Given the description of an element on the screen output the (x, y) to click on. 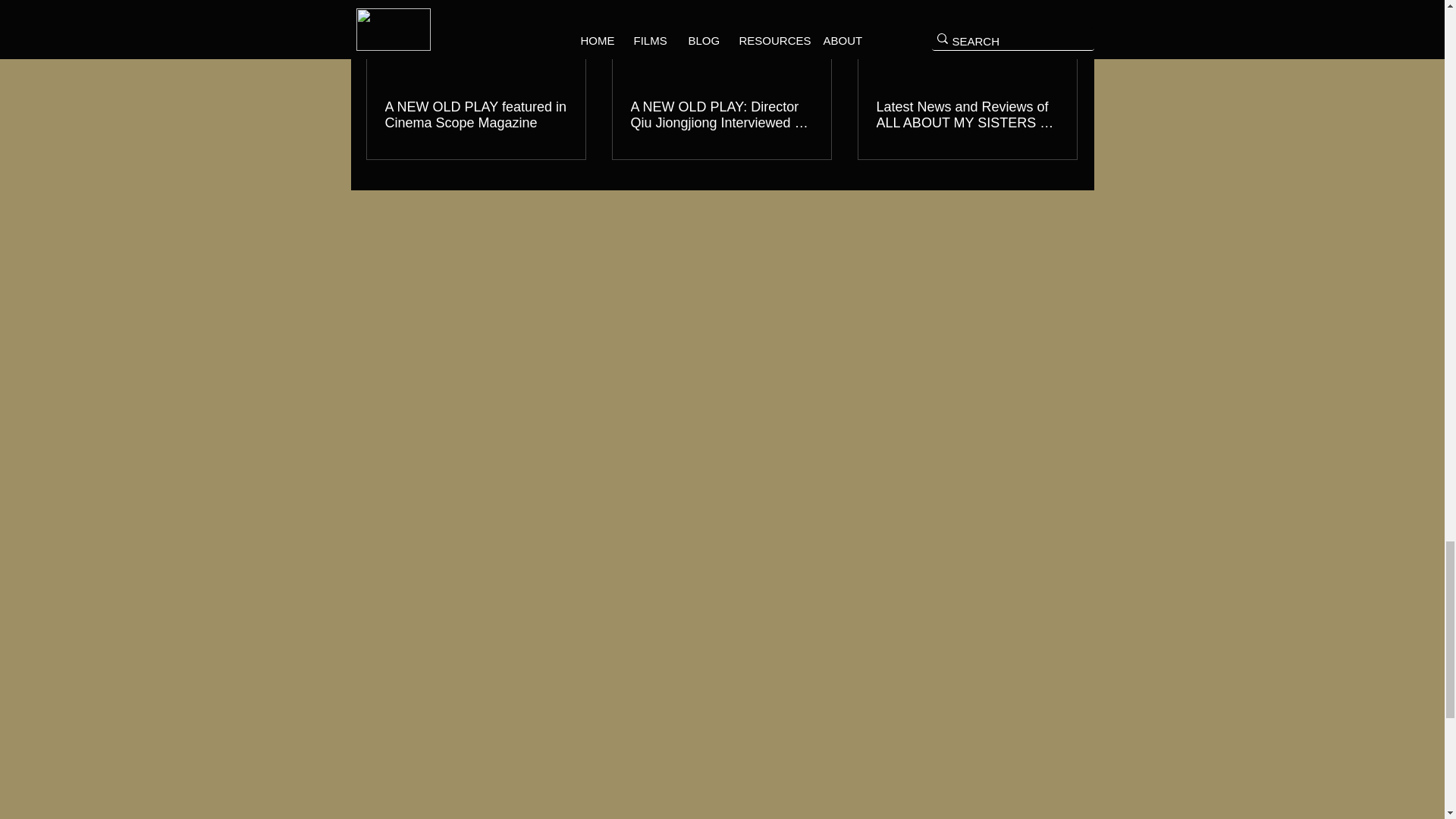
A NEW OLD PLAY featured in Cinema Scope Magazine (476, 115)
